Given the description of an element on the screen output the (x, y) to click on. 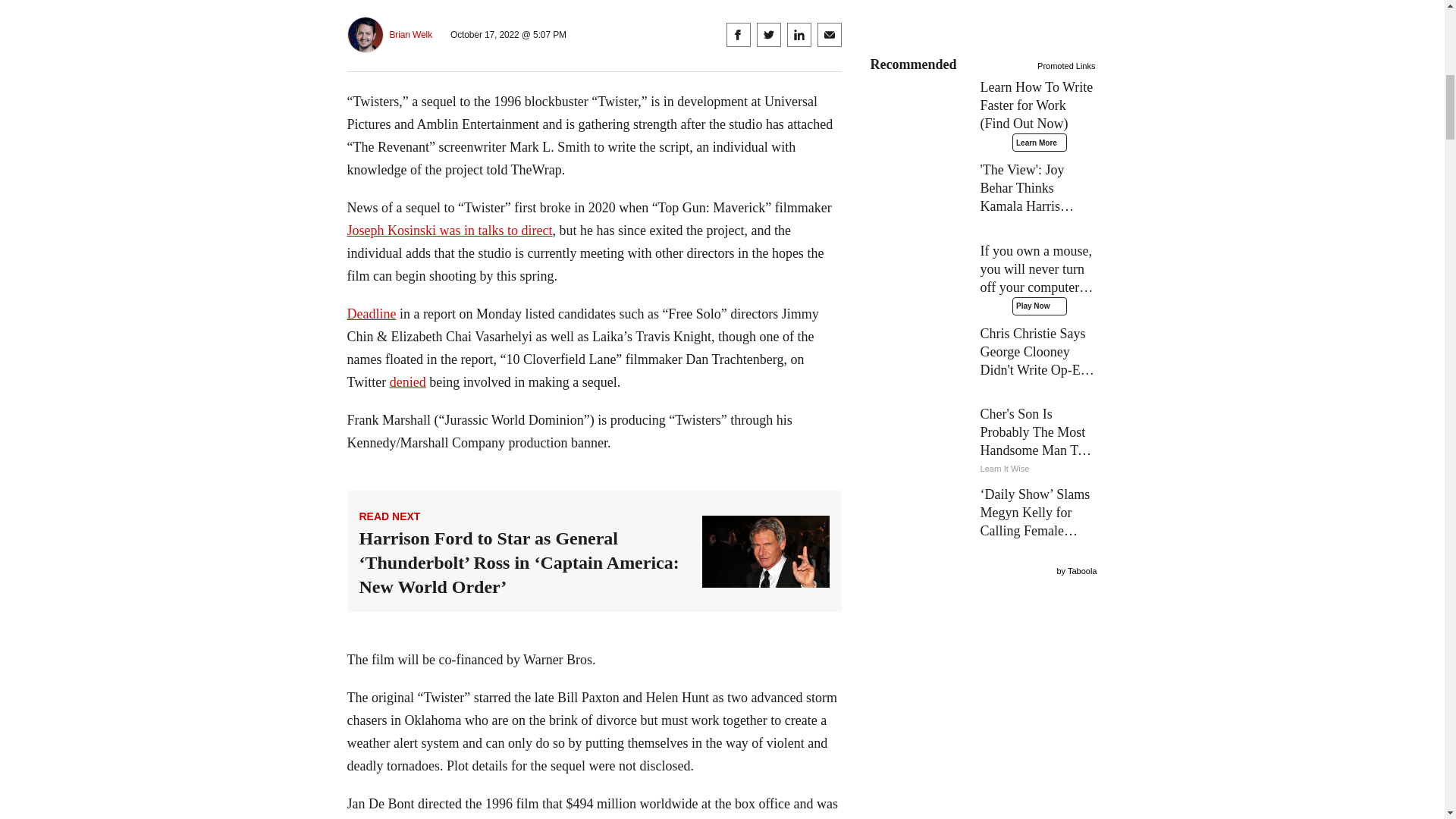
Posts by Brian Welk (411, 34)
Cher's Son Is Probably The Most Handsome Man To Ever Exist (983, 440)
